Given the description of an element on the screen output the (x, y) to click on. 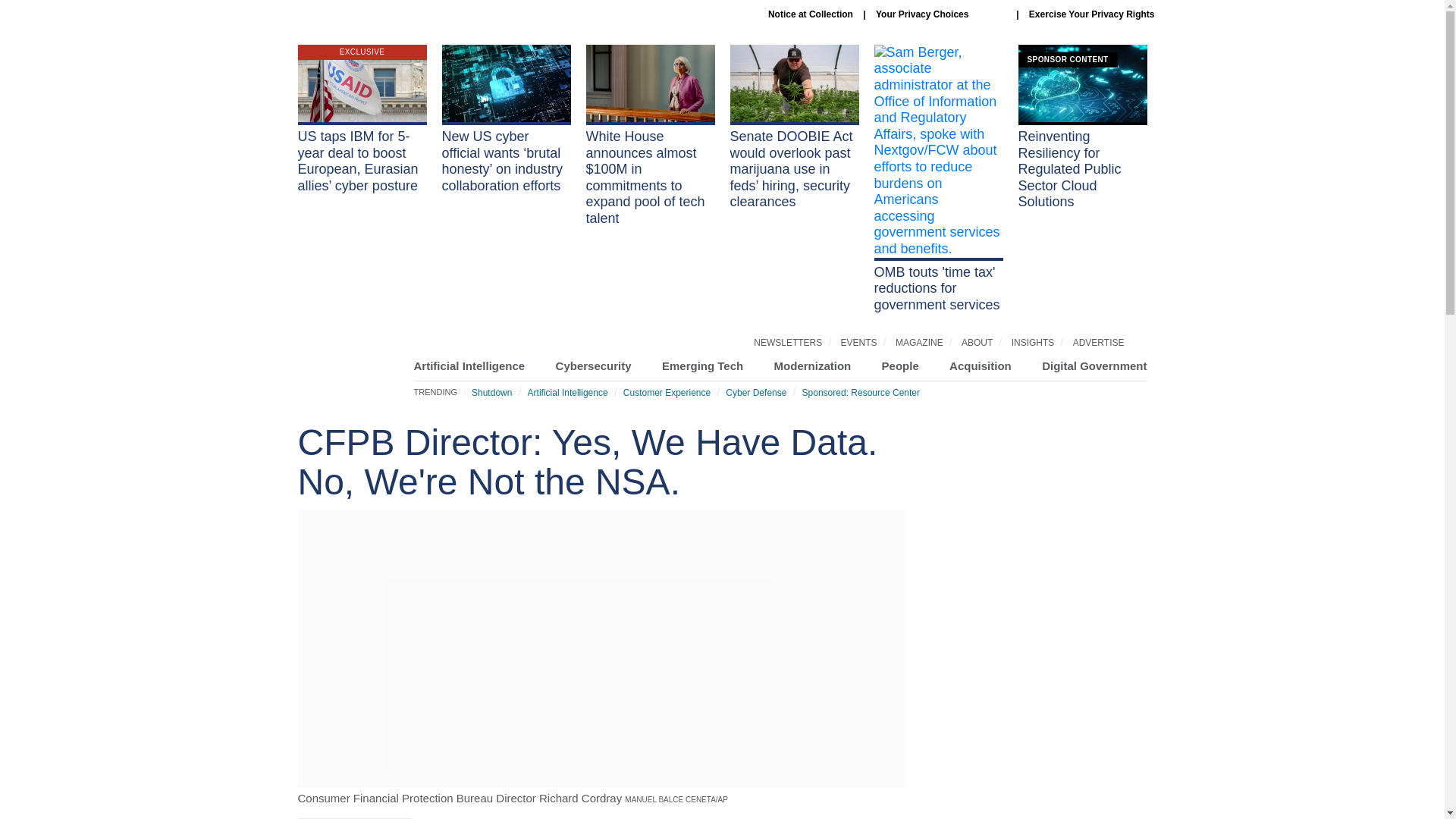
Exercise Your Privacy Rights (1091, 14)
Artificial Intelligence (469, 365)
Cybersecurity (593, 365)
Artificial Intelligence (567, 392)
Digital Government (1094, 365)
ADVERTISE (1098, 342)
Acquisition (980, 365)
EVENTS (859, 342)
Modernization (812, 365)
Customer Experience (666, 392)
INSIGHTS (1032, 342)
Your Privacy Choices (941, 14)
ABOUT (976, 342)
Notice at Collection (810, 14)
People (900, 365)
